Given the description of an element on the screen output the (x, y) to click on. 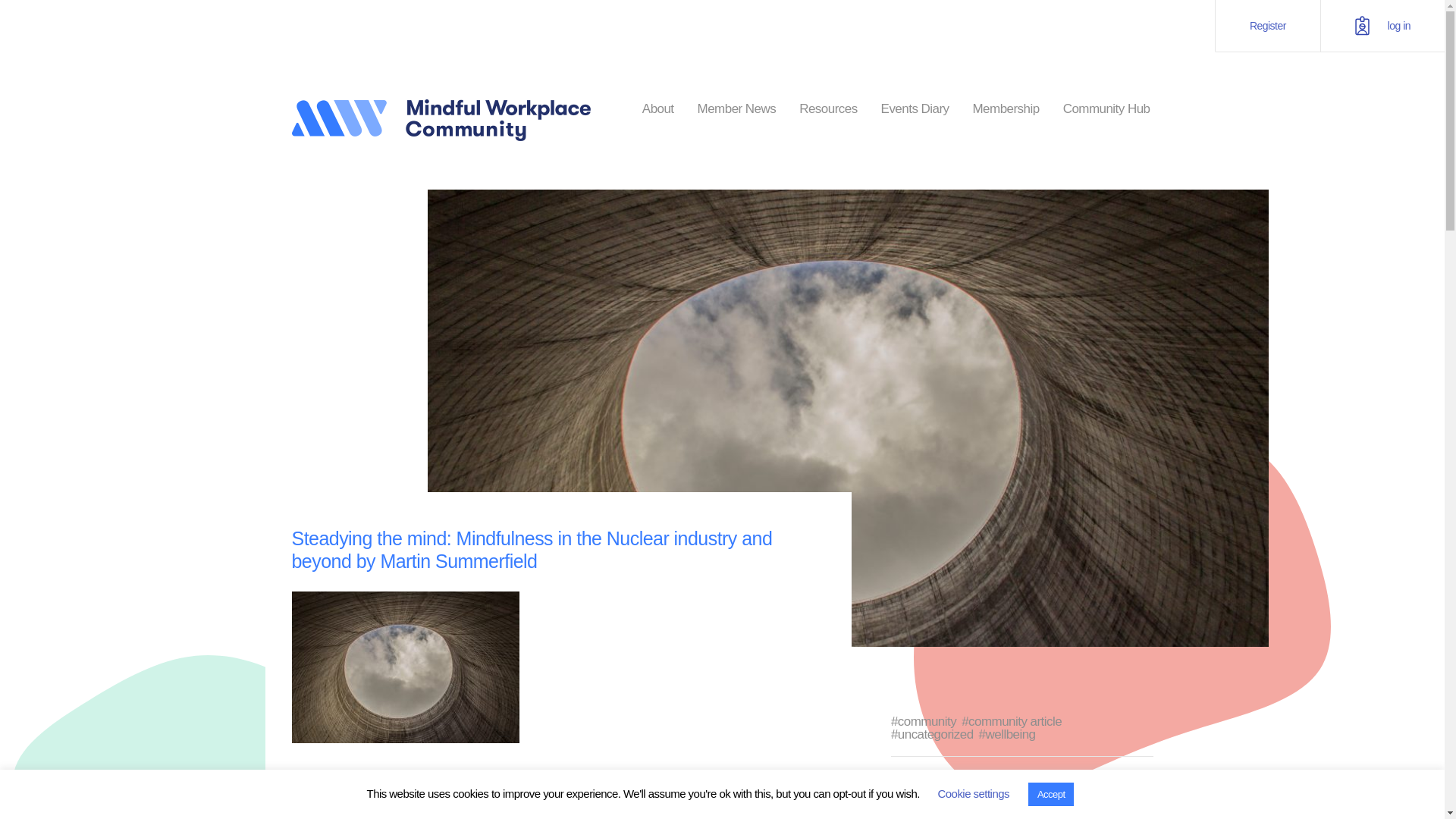
Membership (1005, 110)
Community Hub (1106, 110)
Register (1267, 26)
Events Diary (914, 110)
Resources (828, 110)
Member News (736, 110)
About (658, 110)
